Given the description of an element on the screen output the (x, y) to click on. 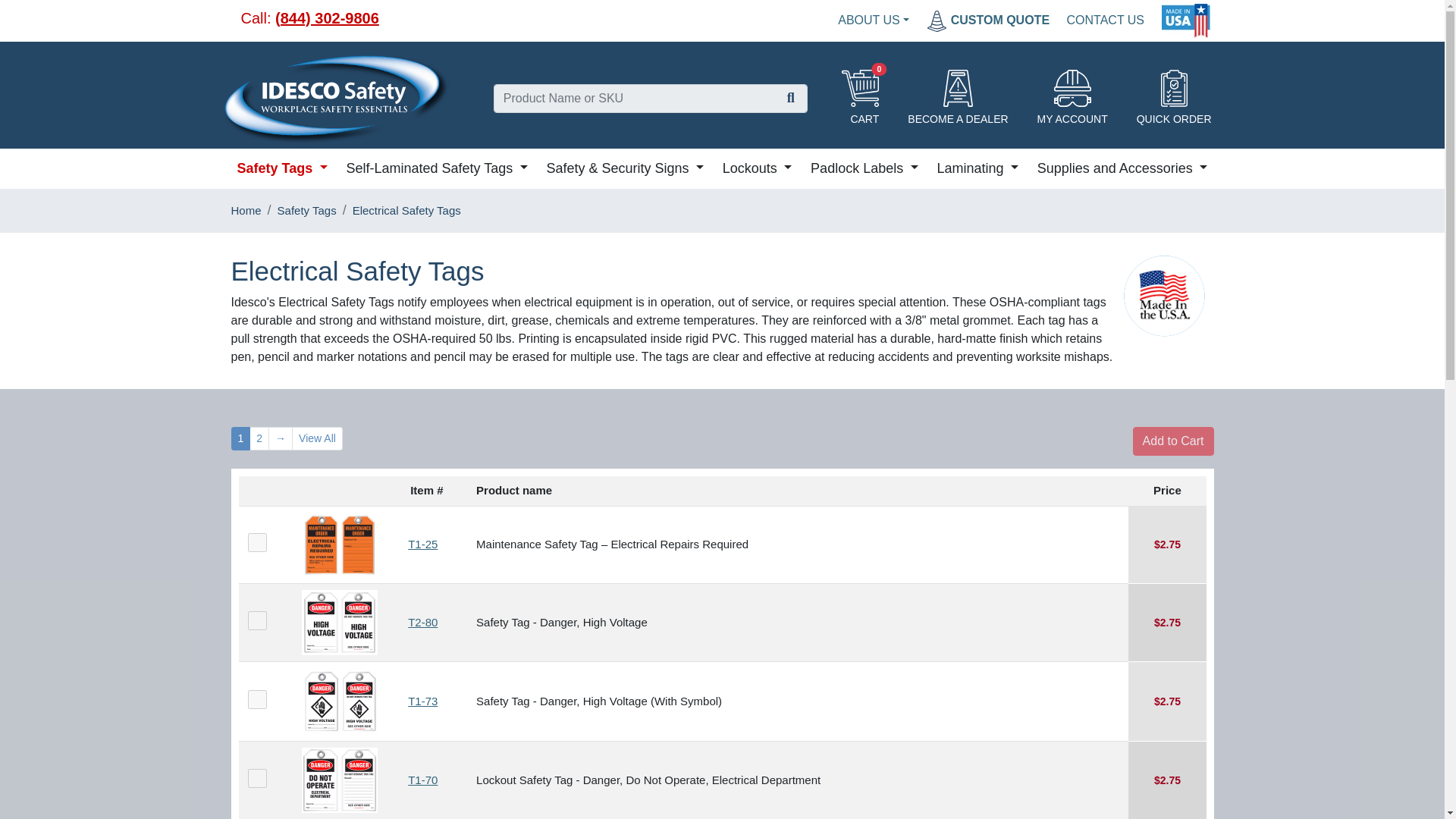
CONTACT US (1105, 19)
25 (256, 778)
25 (256, 619)
Add to Cart (1173, 440)
Quick Order (1174, 98)
CUSTOM QUOTE (987, 19)
Safety Tags (281, 168)
BECOME A DEALER (957, 98)
MY ACCOUNT (1072, 98)
Self-Laminated Safety Tags (435, 168)
QUICK ORDER (1174, 98)
CONTACT US (1105, 19)
Custom Quote (987, 19)
25 (256, 542)
ABOUT US (873, 19)
